Given the description of an element on the screen output the (x, y) to click on. 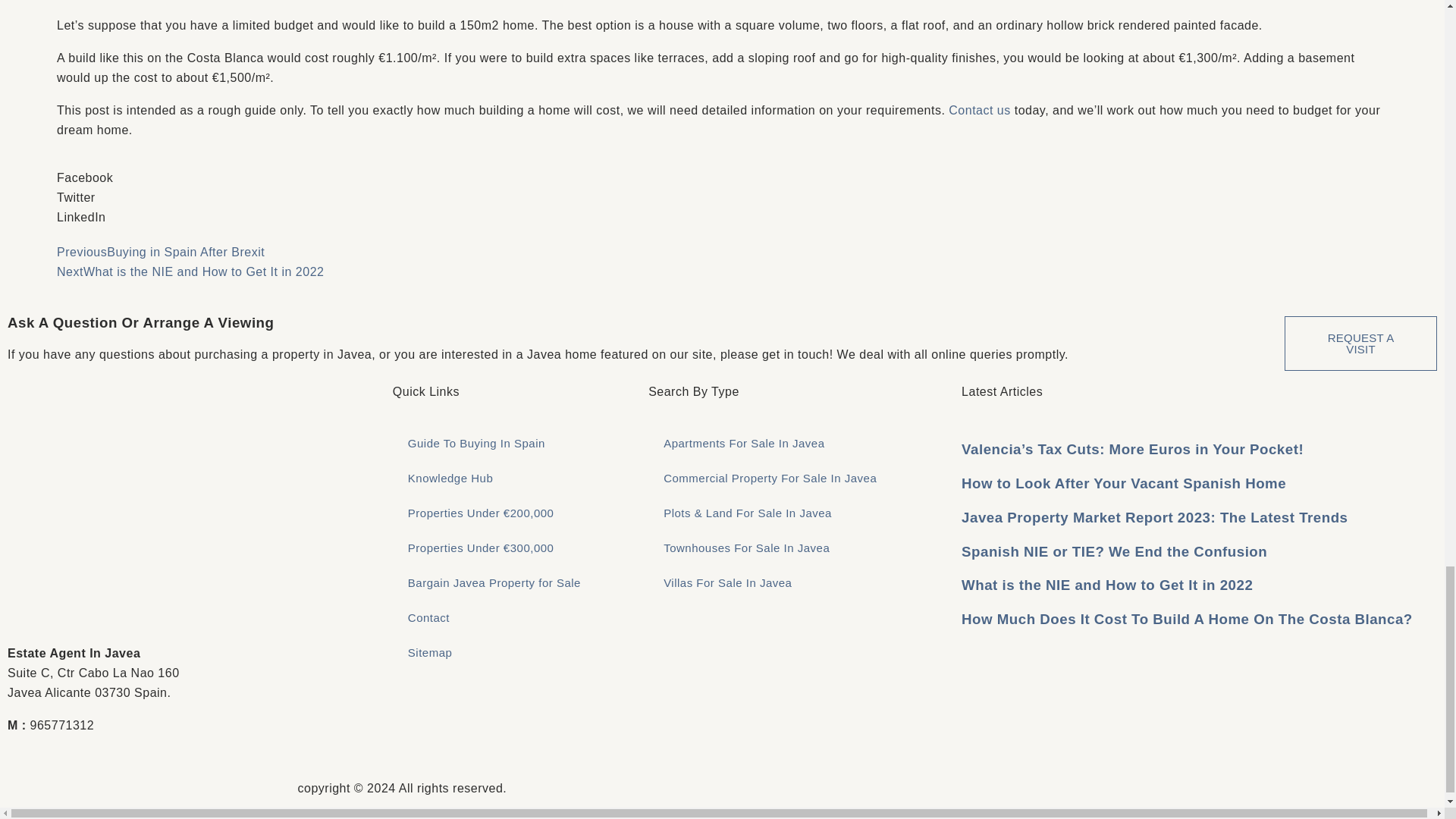
REQUEST A VISIT (1360, 343)
Contact (513, 617)
Knowledge Hub (513, 478)
Bargain Javea Property for Sale (513, 582)
PreviousBuying in Spain After Brexit (160, 251)
Guide To Buying In Spain (513, 443)
Contact us (979, 110)
NextWhat is the NIE and How to Get It in 2022 (189, 271)
